Given the description of an element on the screen output the (x, y) to click on. 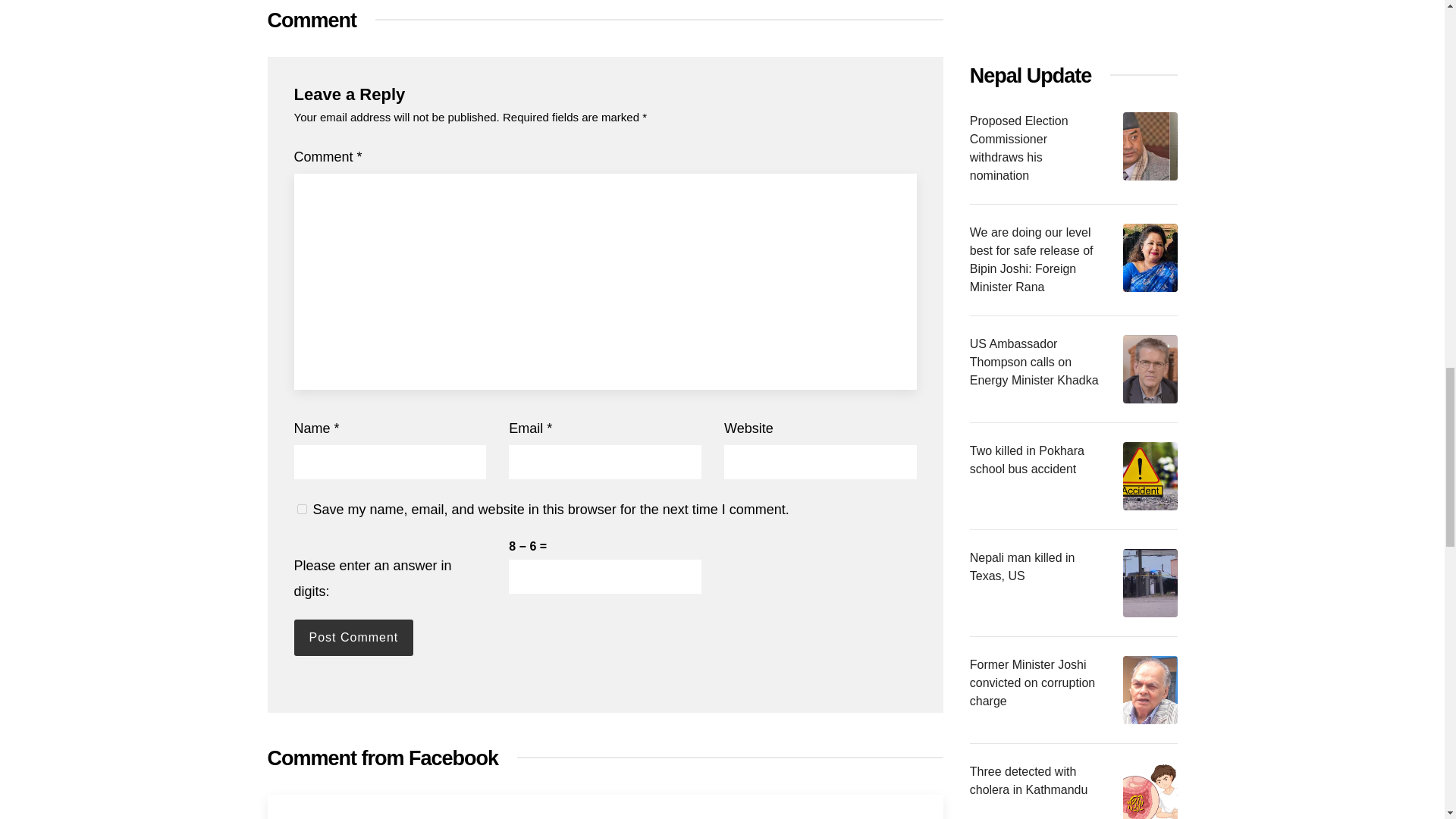
yes (302, 509)
Post Comment (353, 637)
